Given the description of an element on the screen output the (x, y) to click on. 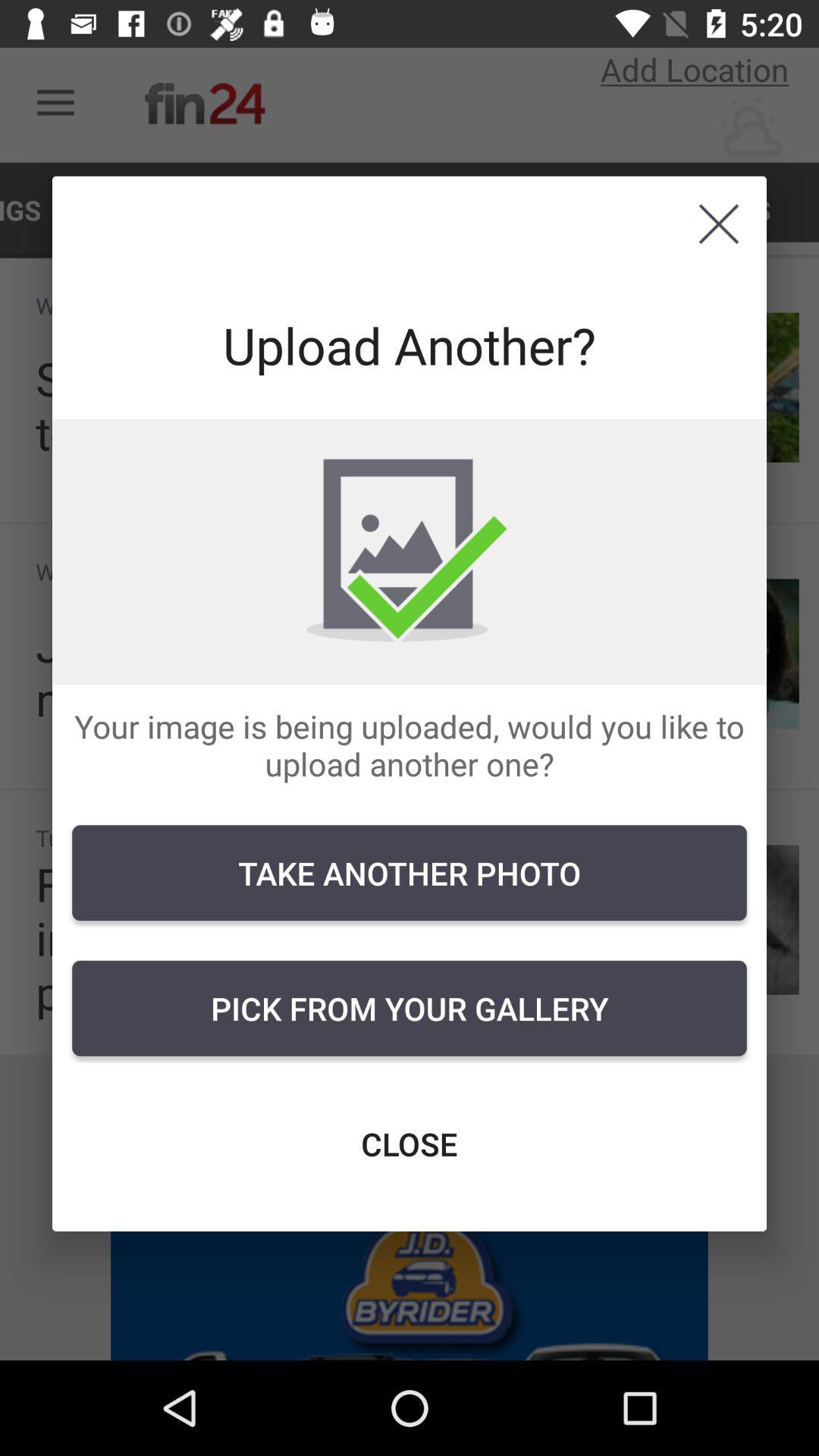
launch the icon below take another photo (409, 1008)
